Given the description of an element on the screen output the (x, y) to click on. 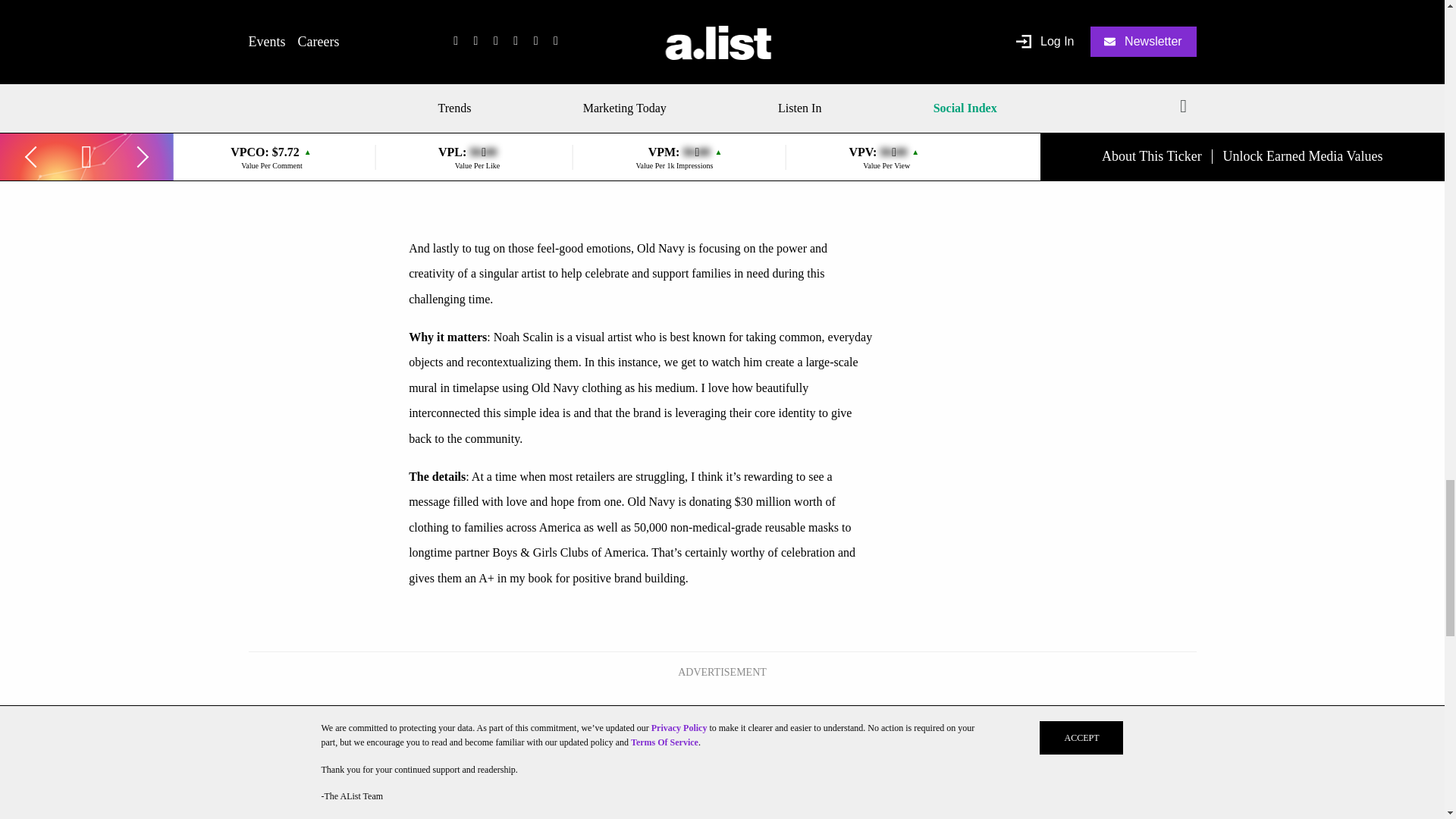
3rd party ad content (721, 719)
